Given the description of an element on the screen output the (x, y) to click on. 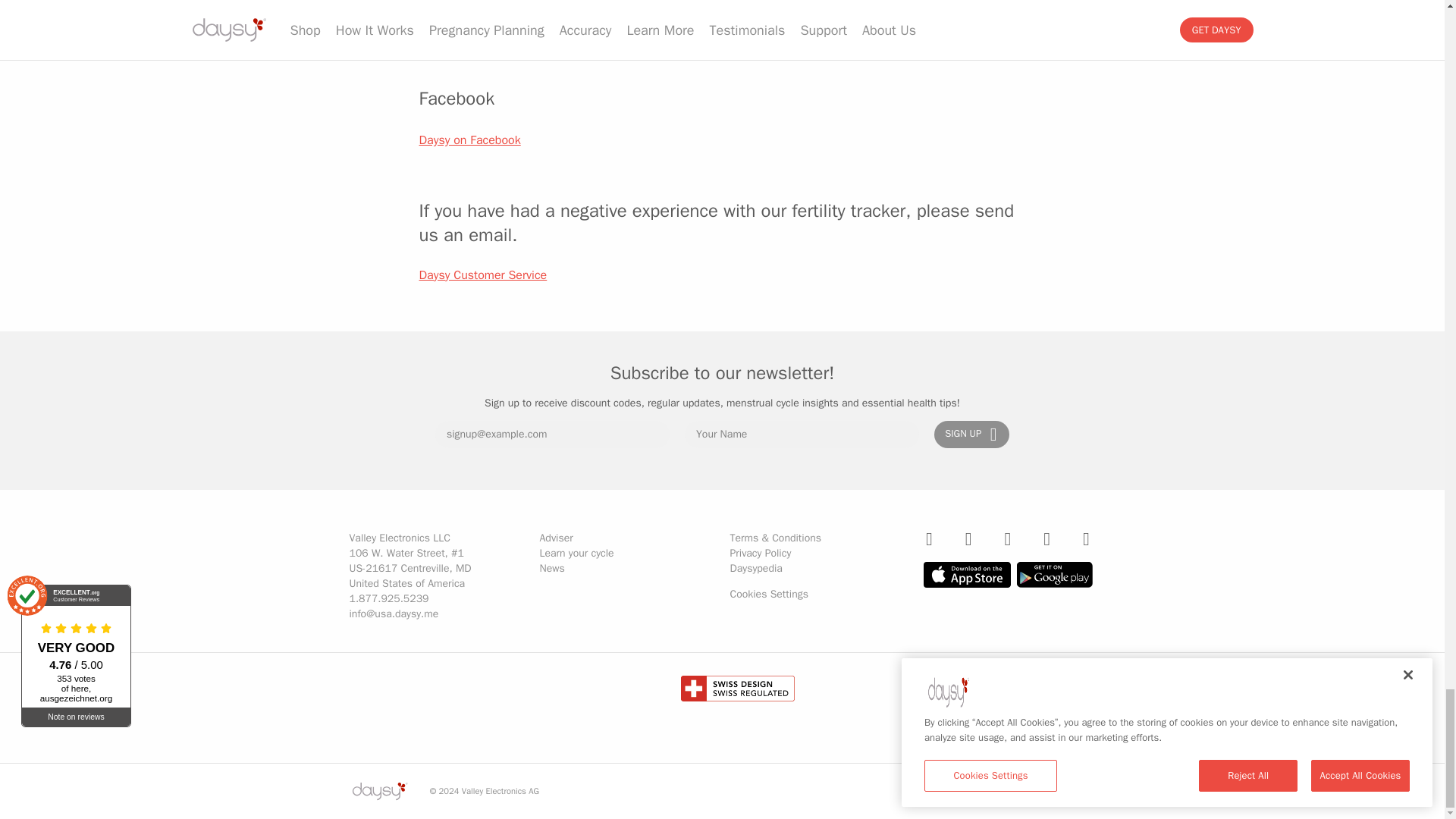
Visit us on YouTube (967, 538)
Visit us on Facebook (1007, 538)
Visit us on Pinterest (1085, 538)
Visit us on Linkedin (1047, 538)
Visit us on Instagram (929, 538)
